Given the description of an element on the screen output the (x, y) to click on. 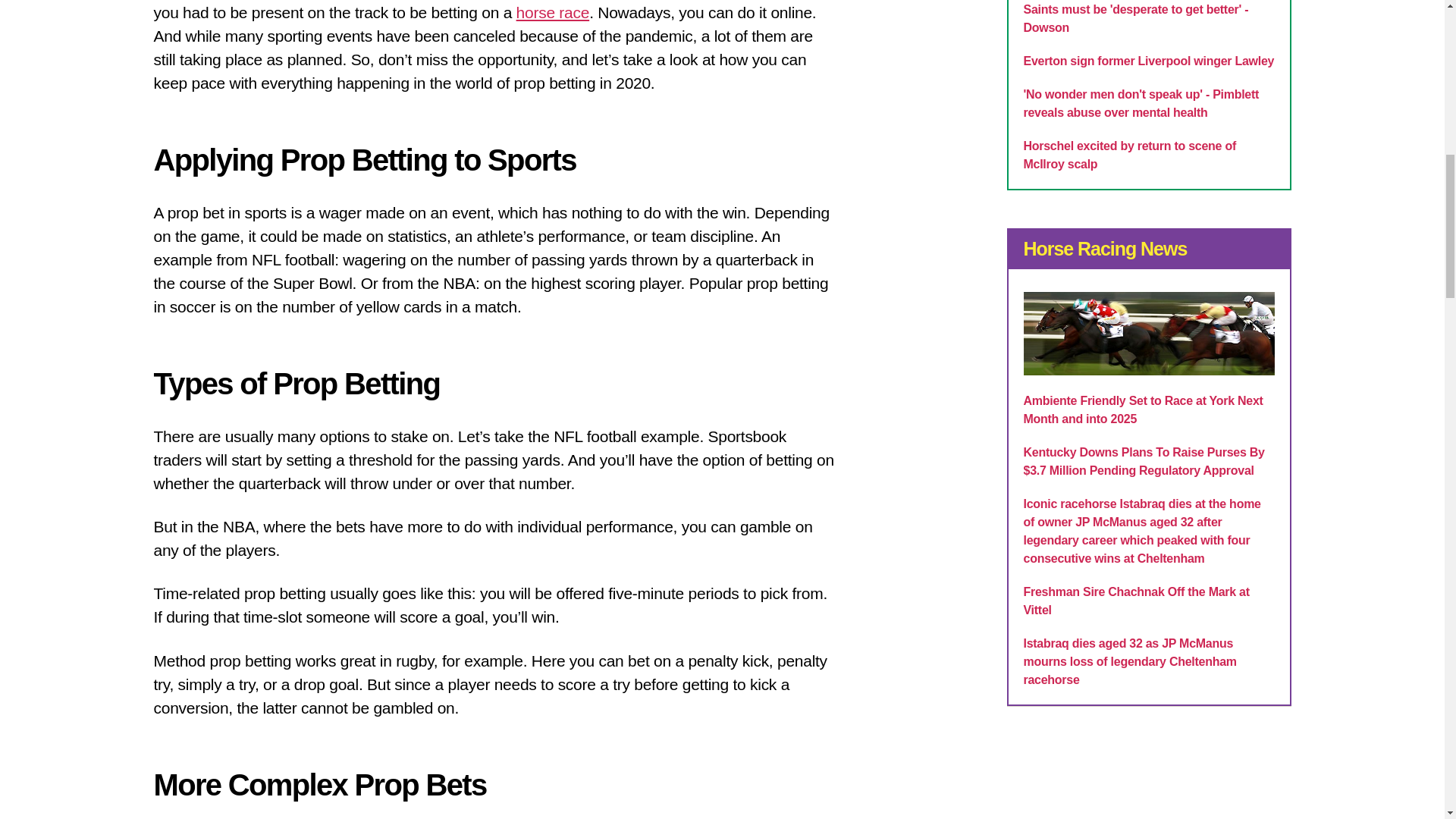
horse race (552, 12)
Everton sign former Liverpool winger Lawley (1149, 60)
Horschel excited by return to scene of McIlroy scalp (1129, 154)
Freshman Sire Chachnak Off the Mark at Vittel (1136, 600)
Saints must be 'desperate to get better' - Dowson (1136, 18)
